Given the description of an element on the screen output the (x, y) to click on. 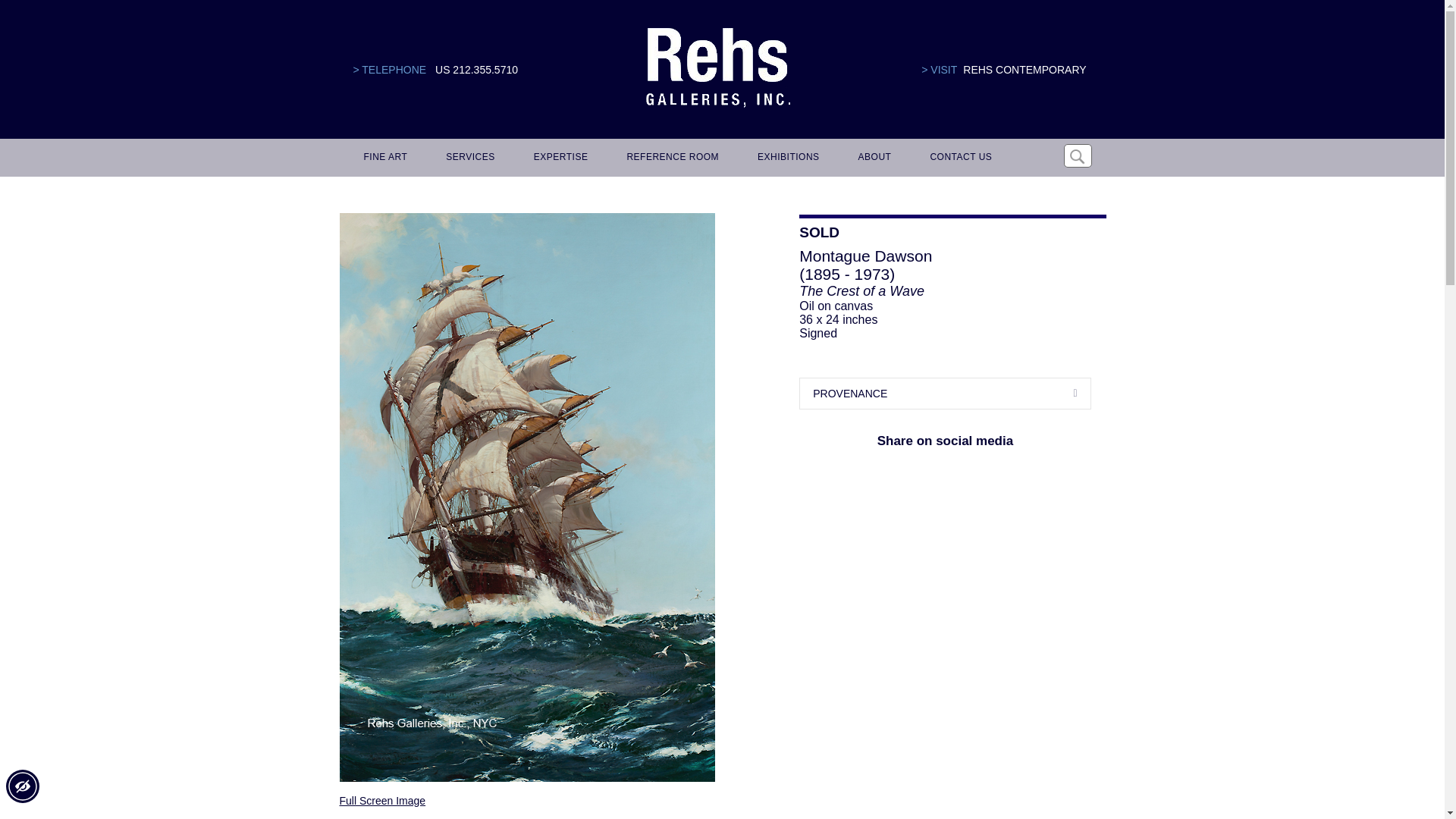
Logo (717, 67)
SERVICES (467, 157)
CONTACT US (957, 157)
REHS CONTEMPORARY (1024, 69)
FINE ART (383, 157)
Full Screen Image (382, 800)
EXPERTISE (558, 157)
Accessibility Menu (22, 786)
ABOUT (872, 157)
EXHIBITIONS (785, 157)
REFERENCE ROOM (670, 157)
